Given the description of an element on the screen output the (x, y) to click on. 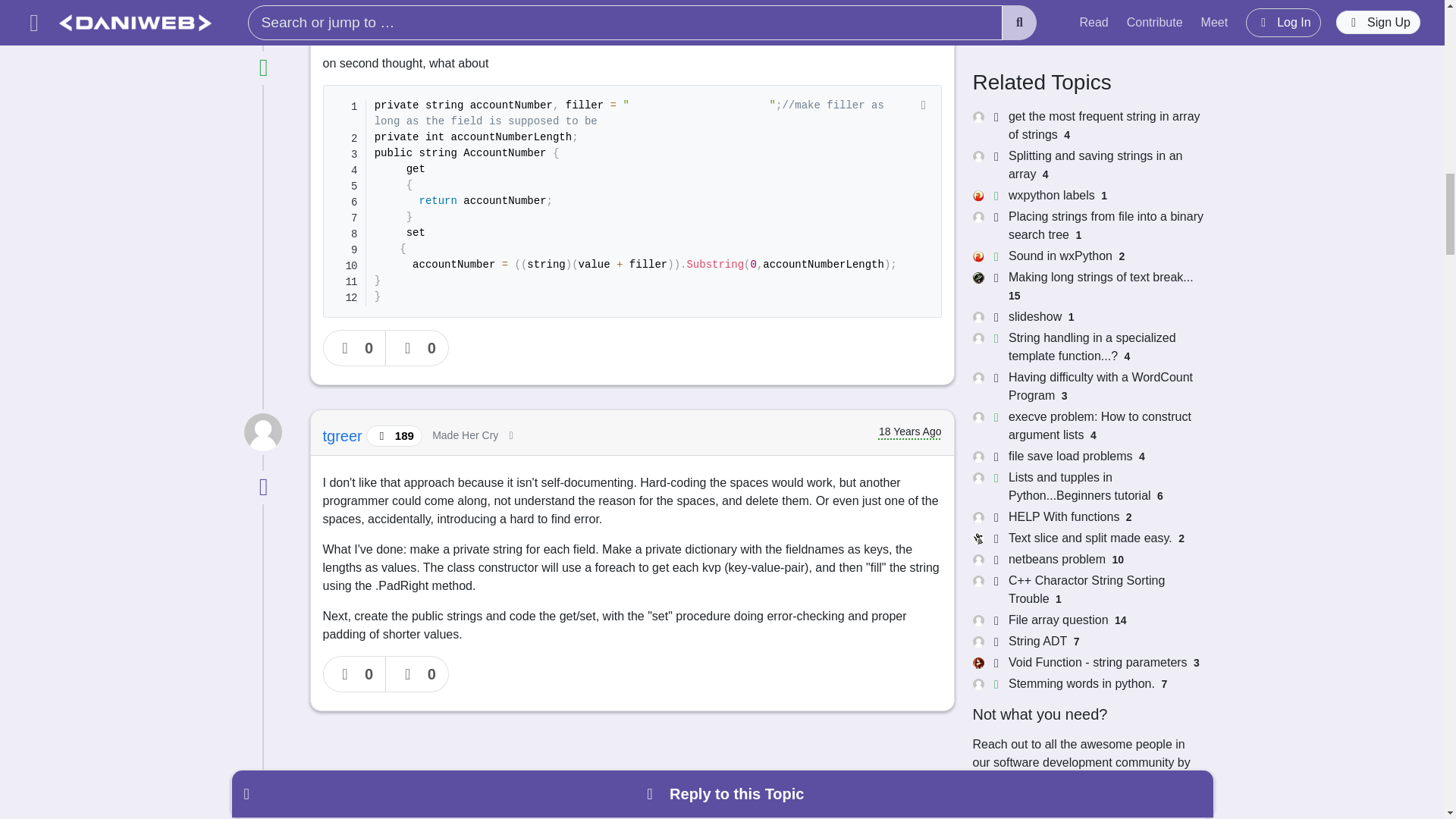
0 (355, 348)
tgreer (344, 435)
campkev (355, 16)
0 (416, 348)
0 (416, 674)
0 (355, 674)
